Given the description of an element on the screen output the (x, y) to click on. 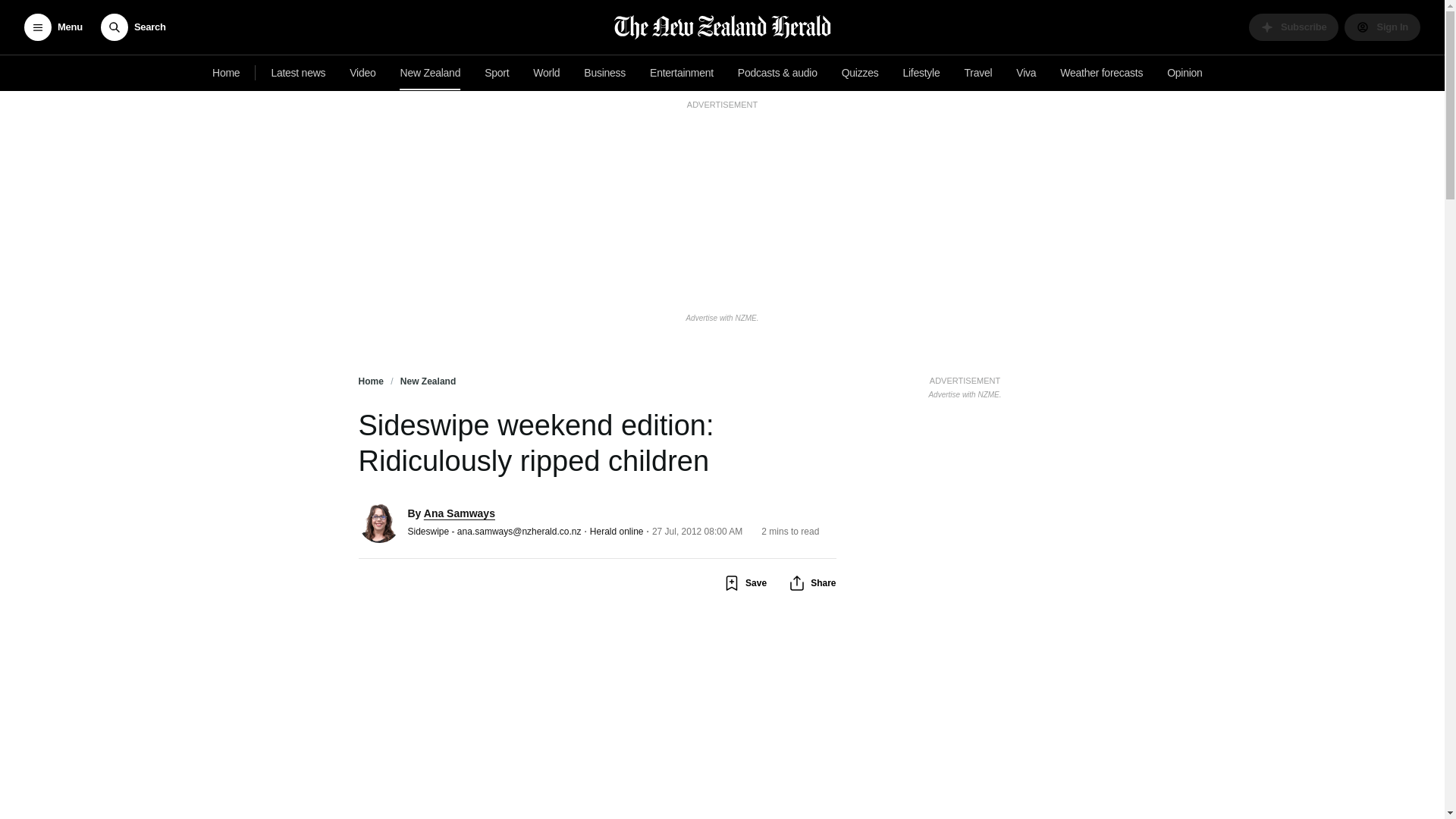
Viva (1026, 72)
Search (132, 26)
Weather forecasts (1101, 72)
Home (225, 72)
Lifestyle (964, 384)
New Zealand (921, 72)
Travel (430, 72)
Quizzes (978, 72)
Manage your account (860, 72)
